Given the description of an element on the screen output the (x, y) to click on. 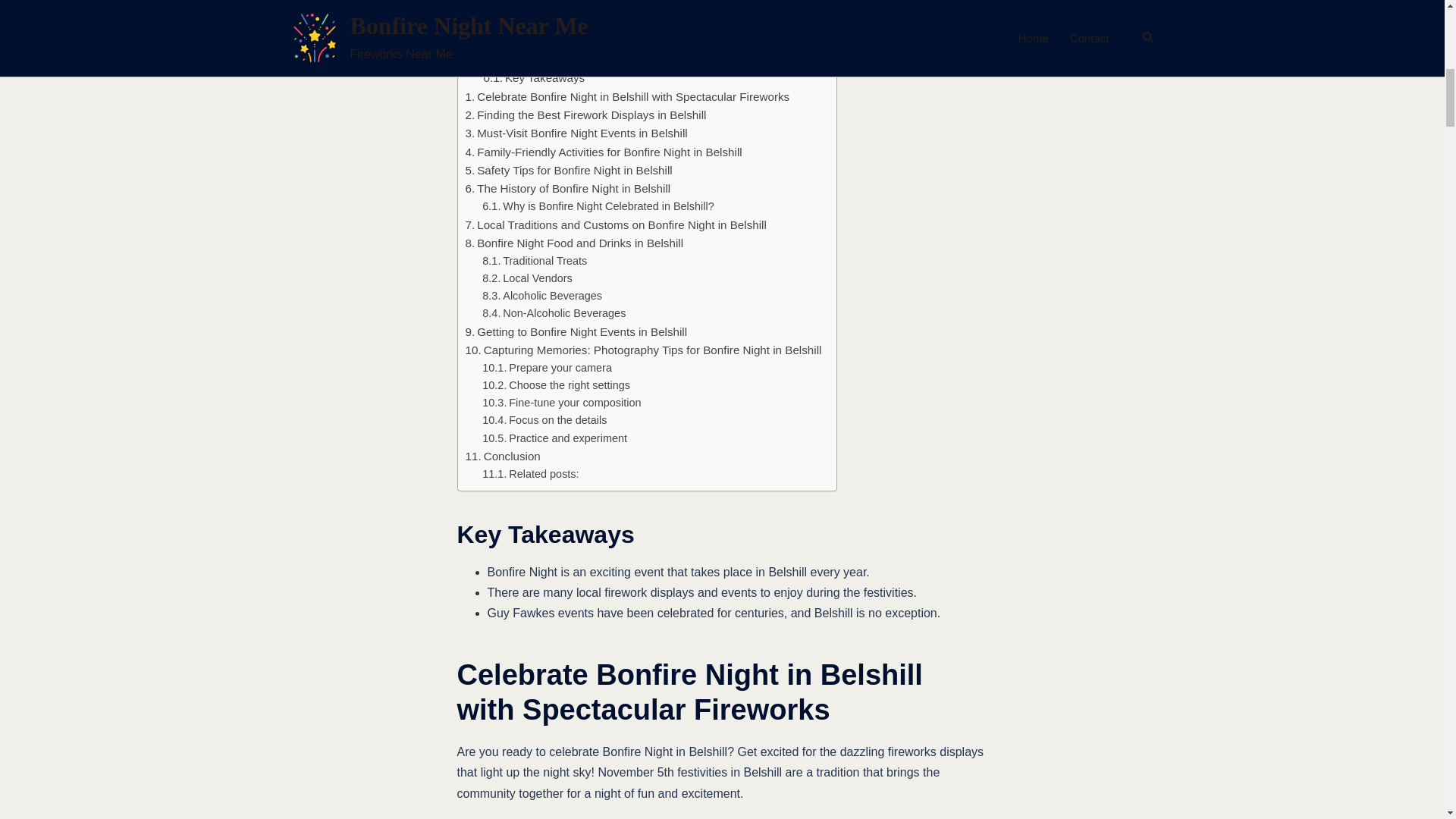
Finding the Best Firework Displays in Belshill (585, 115)
Fine-tune your composition (560, 402)
Key Takeaways (534, 77)
Local Traditions and Customs on Bonfire Night in Belshill (616, 225)
Non-Alcoholic Beverages (553, 313)
Bonfire Night Food and Drinks in Belshill (574, 243)
Bonfire Night Food and Drinks in Belshill (574, 243)
Getting to Bonfire Night Events in Belshill (576, 331)
